Given the description of an element on the screen output the (x, y) to click on. 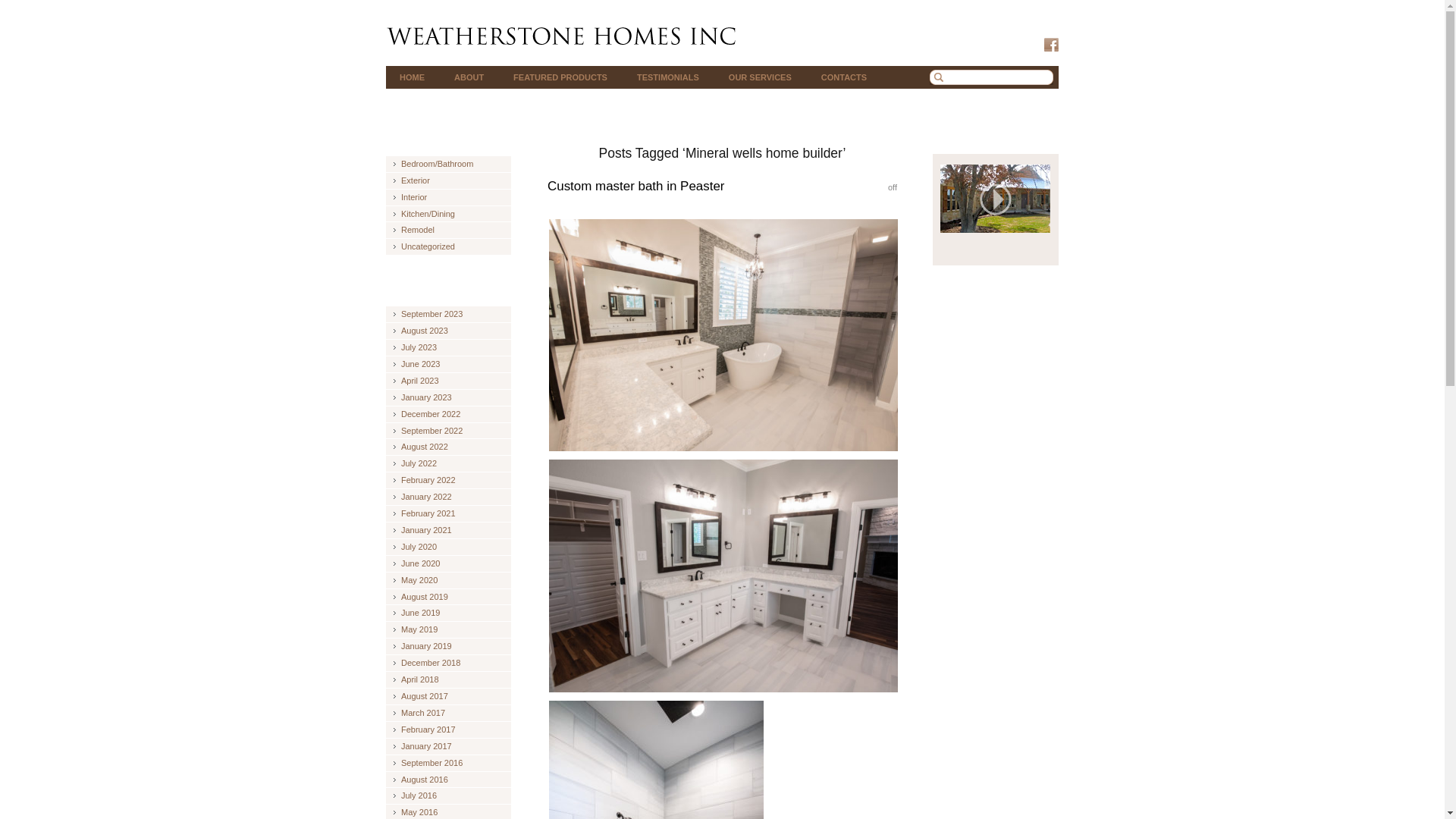
TESTIMONIALS (667, 77)
August 2022 (420, 446)
June 2023 (416, 363)
September 2023 (428, 313)
February 2021 (424, 512)
January 2017 (422, 746)
December 2018 (426, 662)
Remodel (413, 229)
Exterior (411, 180)
August 2019 (420, 596)
